Given the description of an element on the screen output the (x, y) to click on. 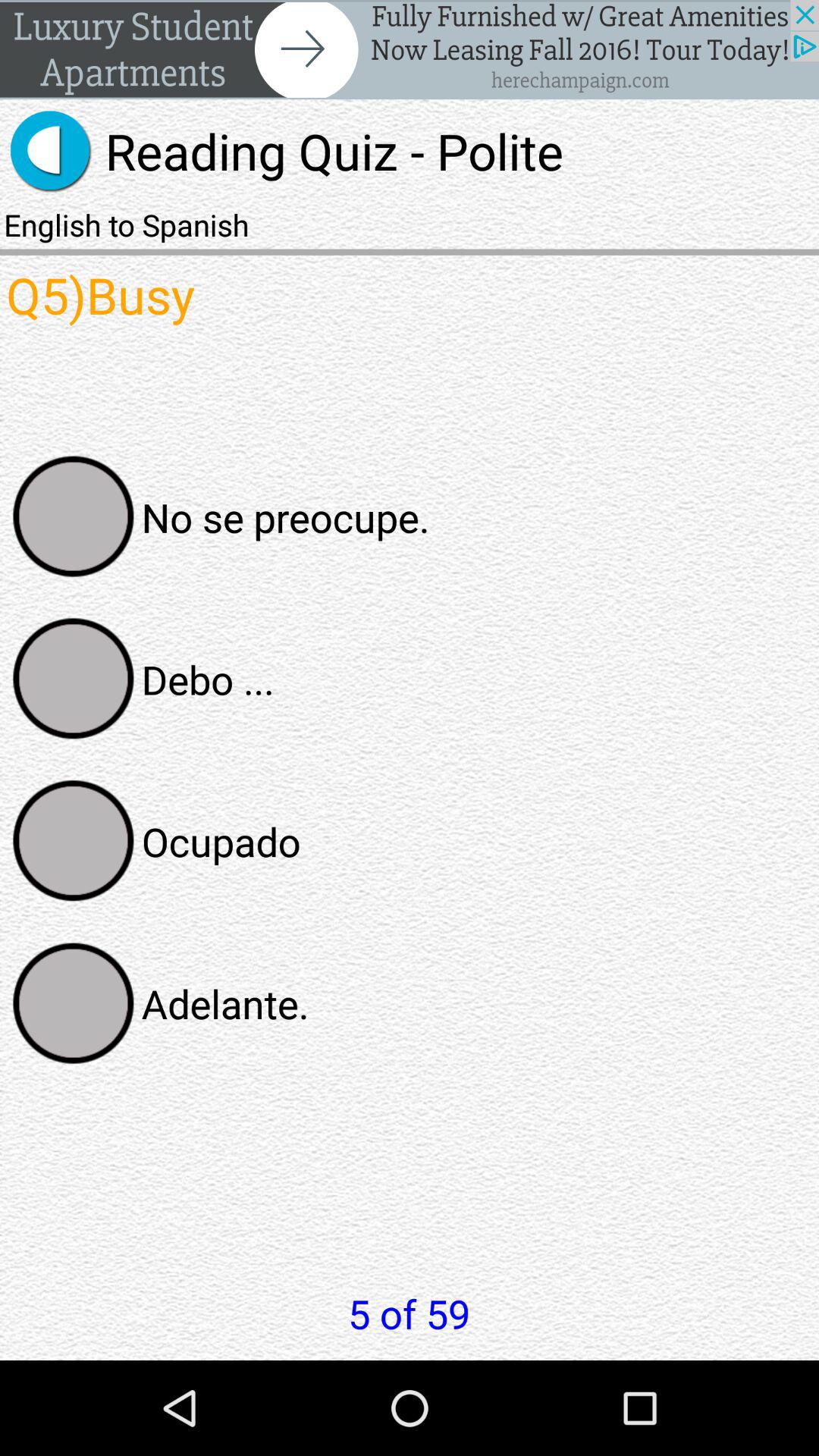
toggle selection (73, 1003)
